Given the description of an element on the screen output the (x, y) to click on. 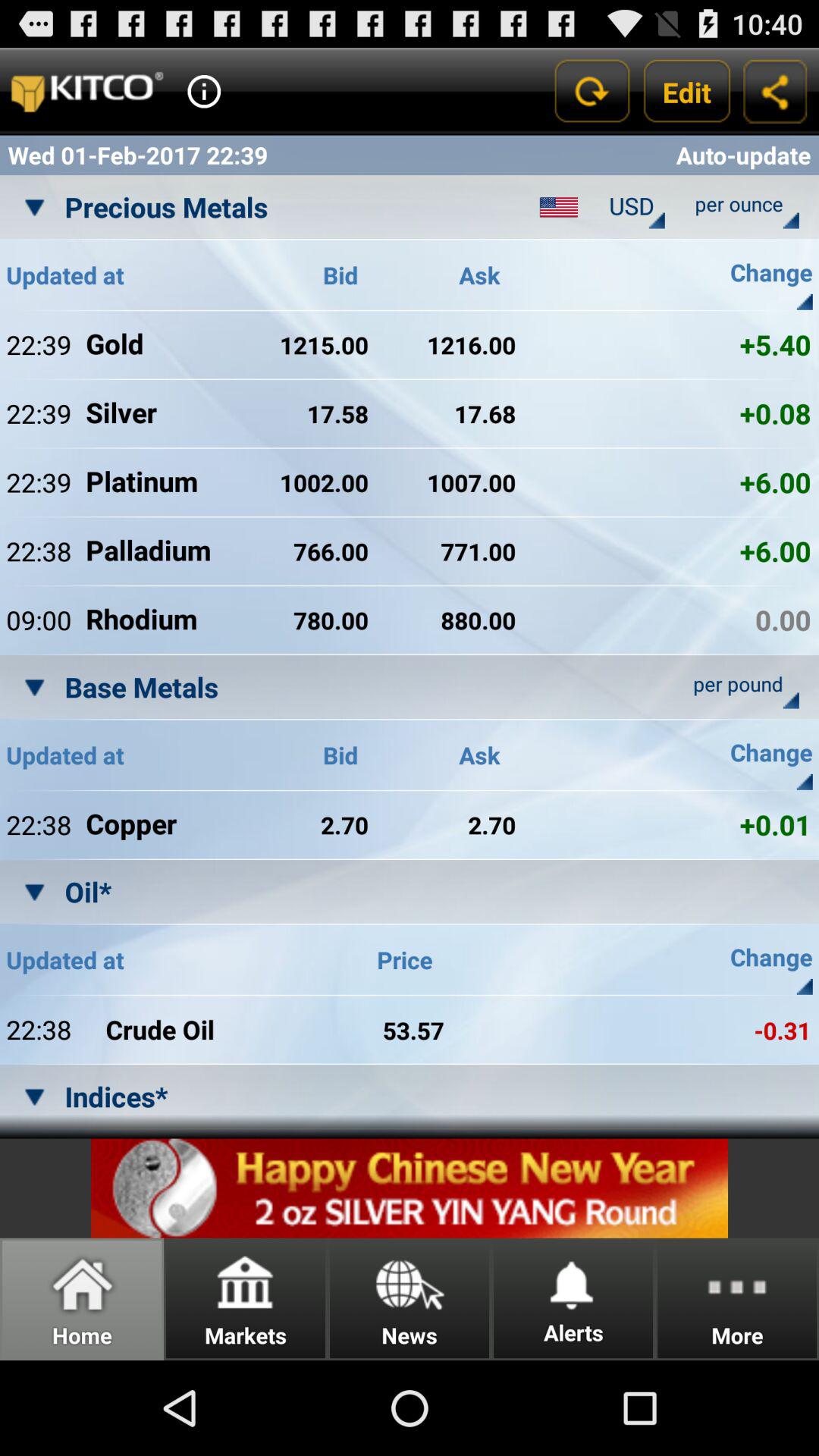
happy chines new year 2 oz silver yin yang round (409, 1188)
